Given the description of an element on the screen output the (x, y) to click on. 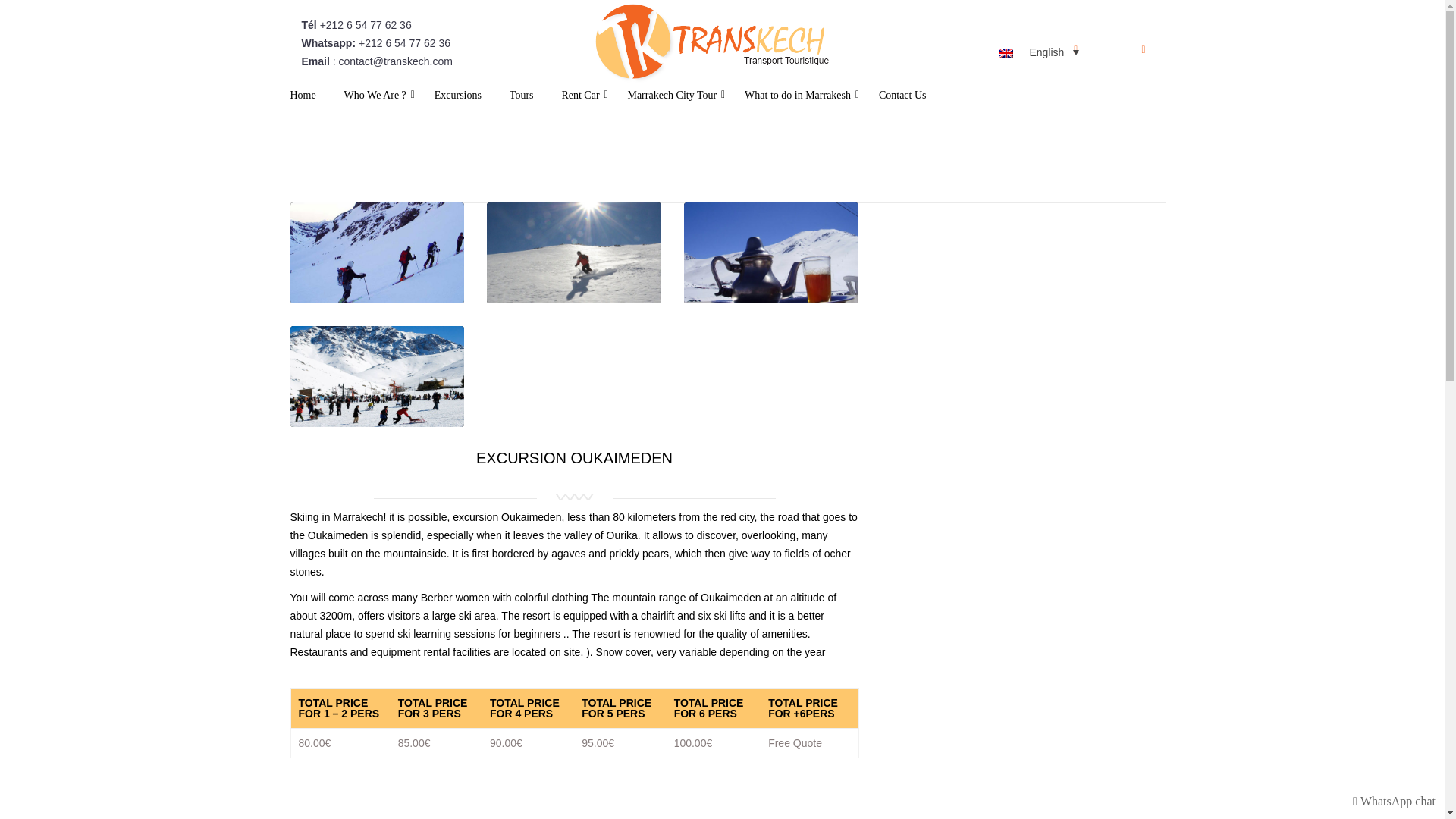
Excursions (457, 98)
Contact Us (902, 98)
Logo (710, 43)
Marrakech City Tour (671, 98)
What to do in Marrakesh (797, 98)
Who We Are ? (374, 98)
Tours (521, 98)
Rent Car (579, 98)
Home (302, 98)
English (1038, 51)
